Given the description of an element on the screen output the (x, y) to click on. 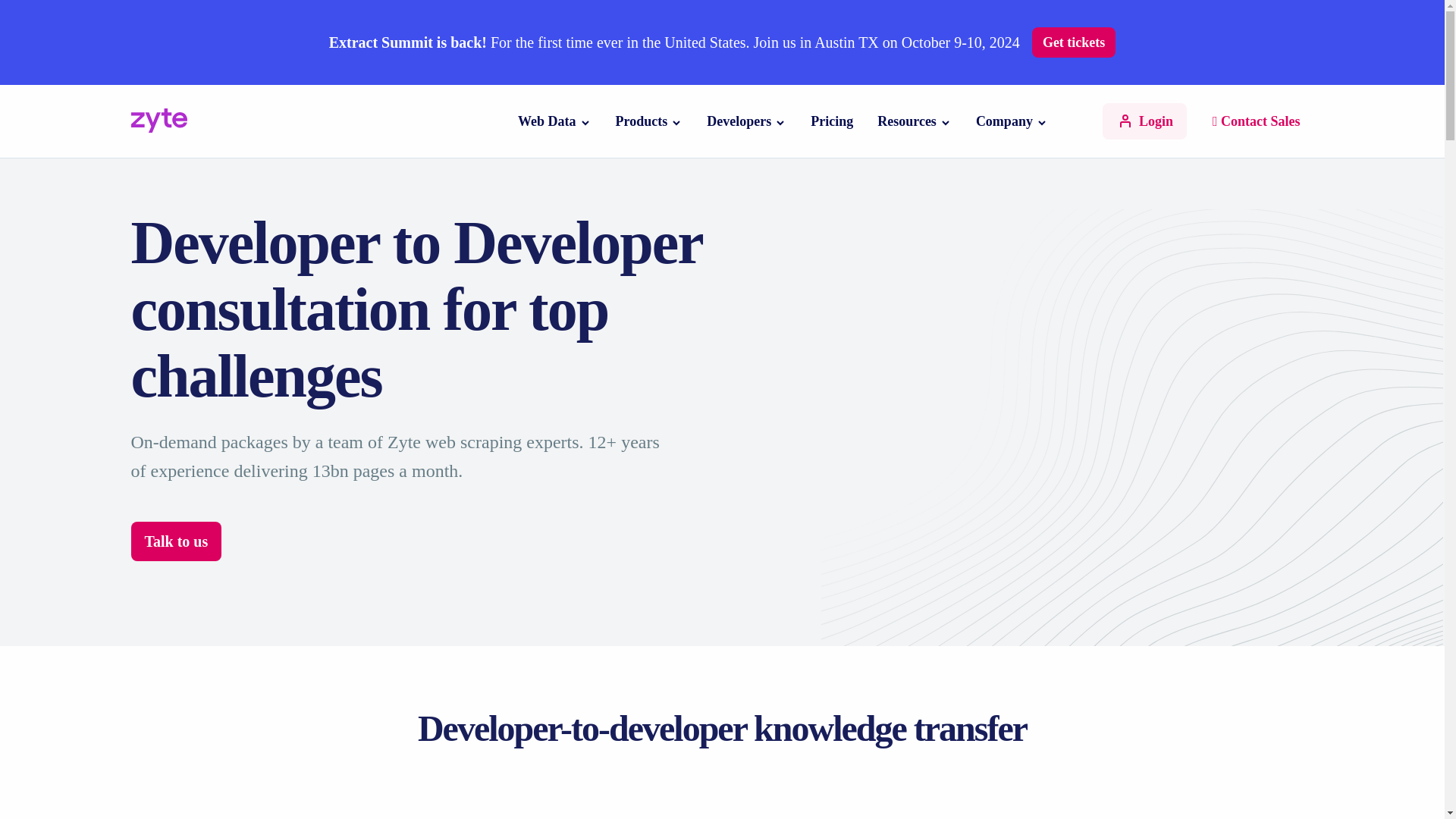
Developers (738, 120)
Get tickets (1073, 42)
Login (1144, 121)
Resources (906, 120)
Web Data (547, 120)
Pricing (831, 120)
Products (641, 120)
